Given the description of an element on the screen output the (x, y) to click on. 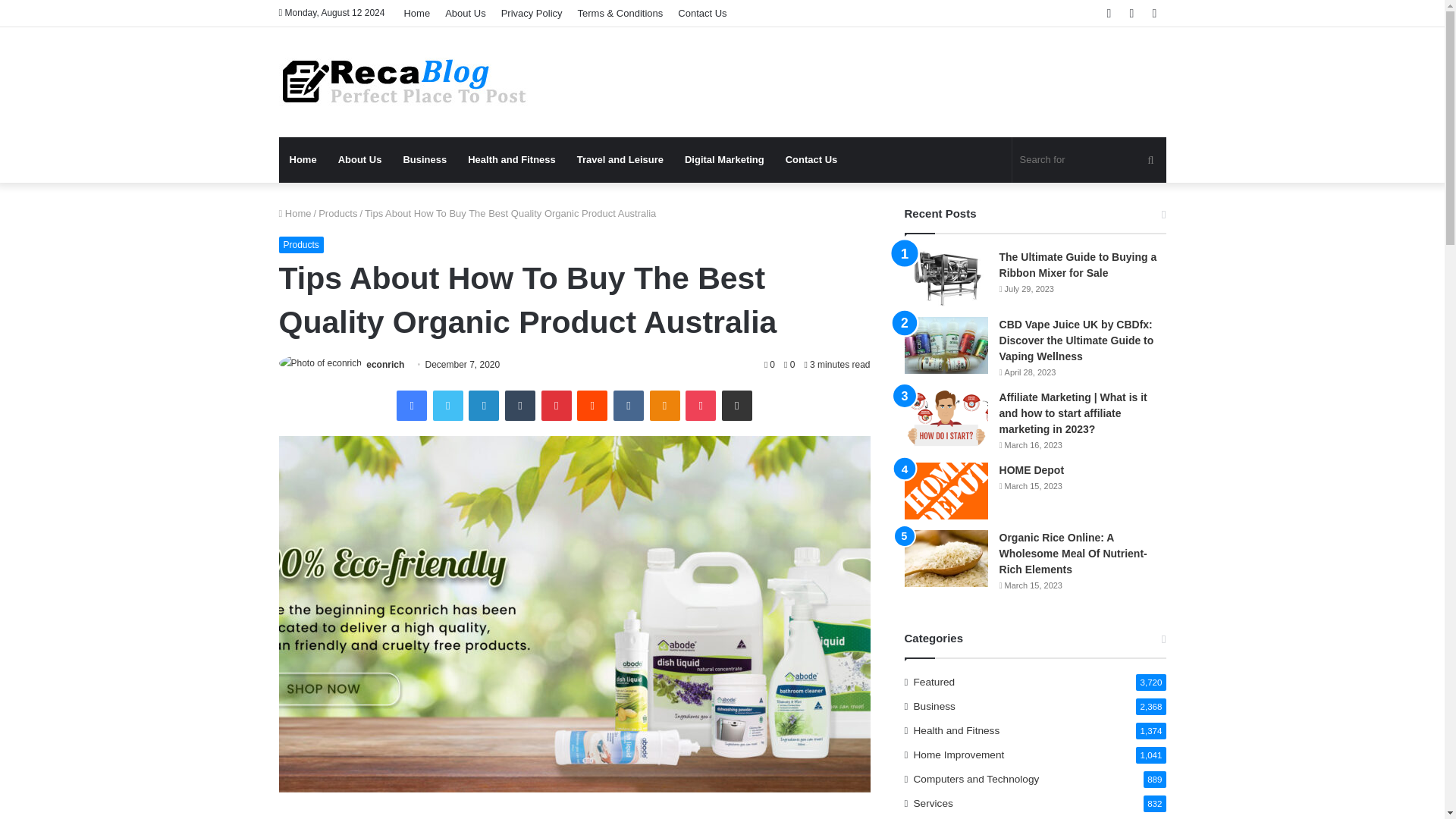
Pocket (700, 405)
Search for (1088, 159)
Home (303, 159)
Twitter (447, 405)
Reddit (591, 405)
Tumblr (520, 405)
Digital Marketing (724, 159)
Facebook (411, 405)
Share via Email (737, 405)
VKontakte (627, 405)
